Given the description of an element on the screen output the (x, y) to click on. 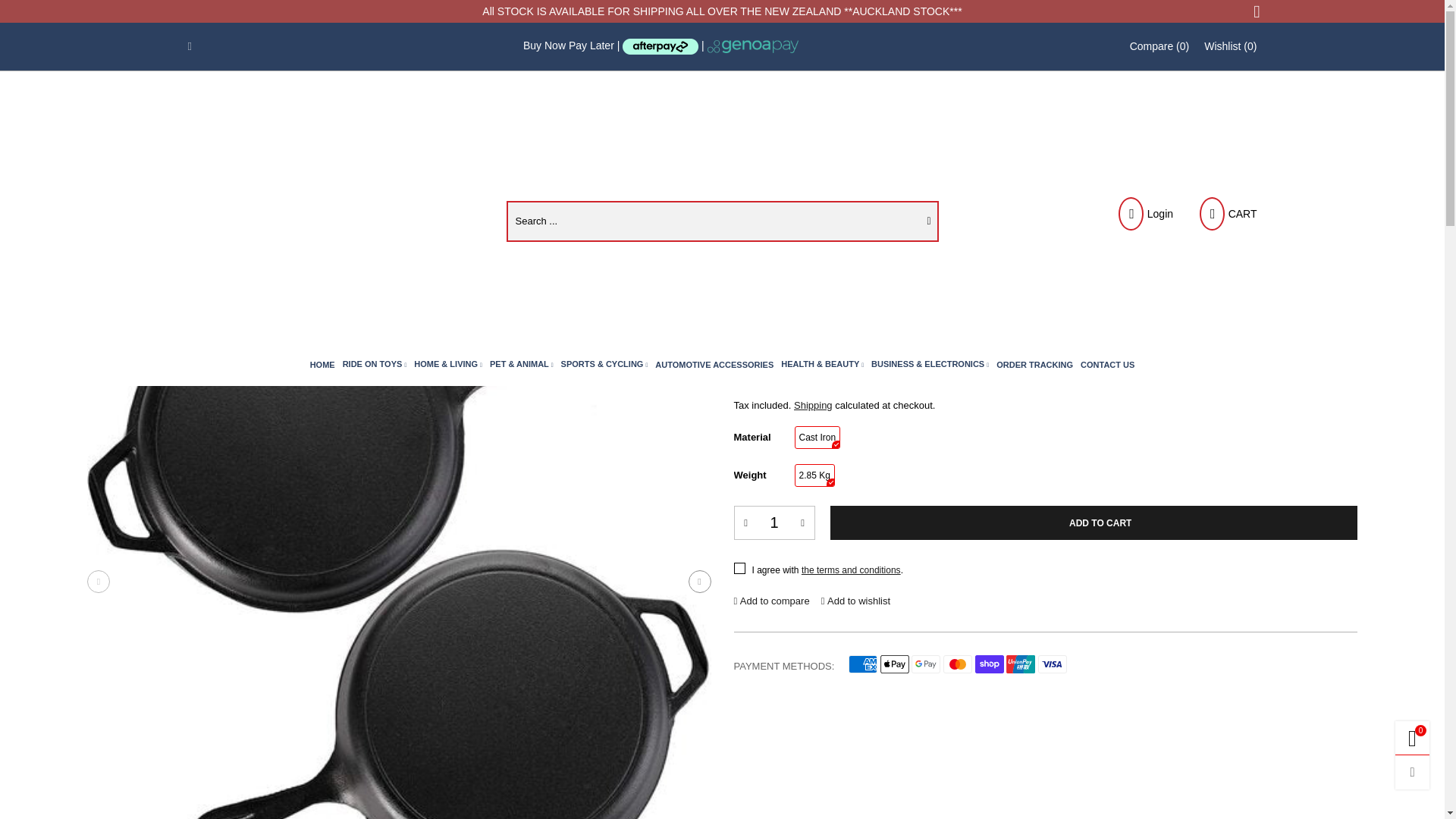
Home (322, 364)
Wishlist (1229, 46)
Paktec.nz (312, 211)
Google Pay (925, 664)
close promotion (1256, 11)
HOME (322, 364)
American Express (862, 664)
1 (773, 522)
CART (1226, 213)
Ride on Toys (374, 364)
Submit (927, 221)
Login (1144, 213)
Cart (1226, 213)
My Account (1144, 213)
Apple Pay (894, 664)
